Given the description of an element on the screen output the (x, y) to click on. 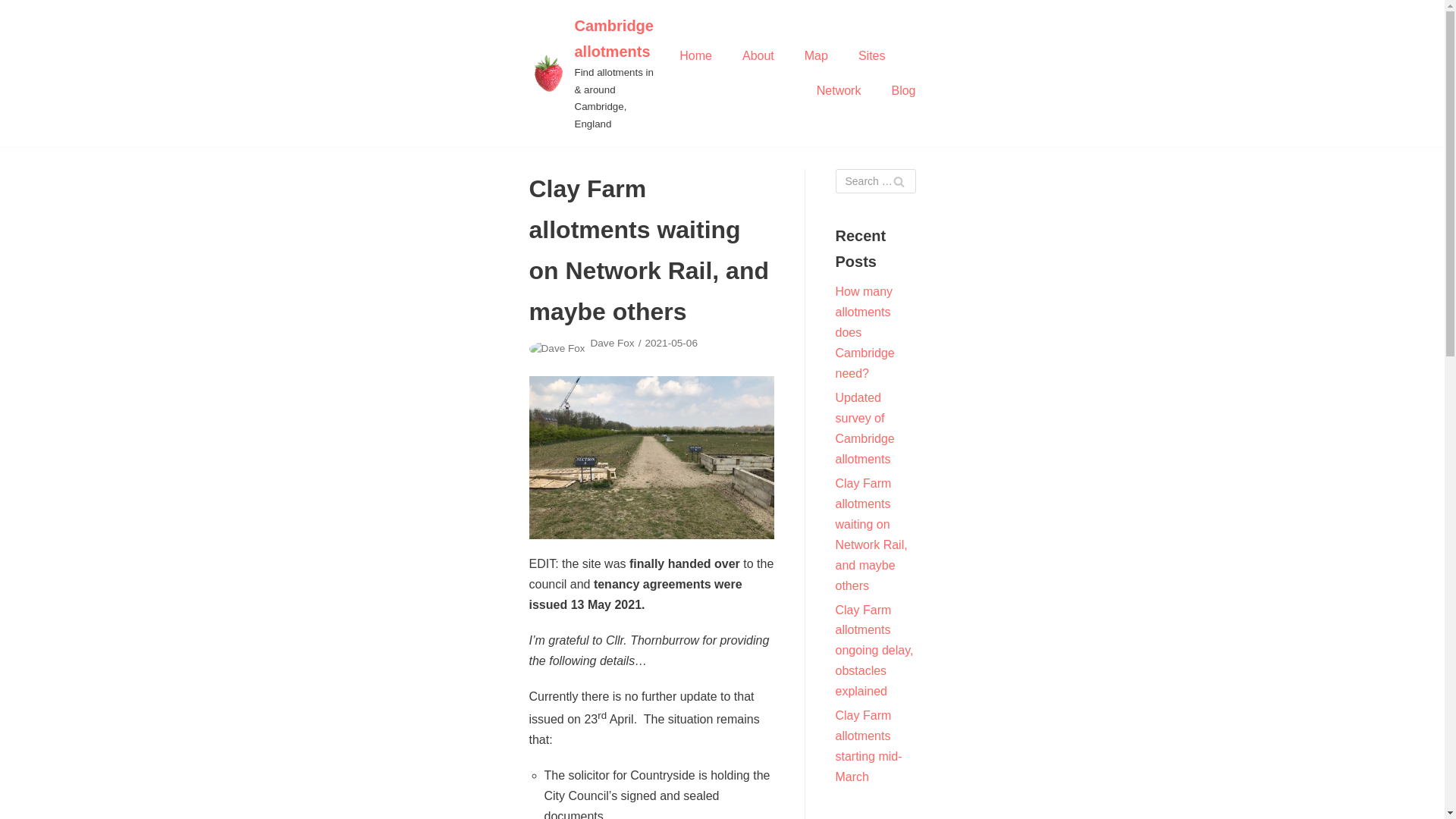
Map (816, 55)
Skip to content (15, 31)
Posts by Dave Fox (611, 342)
Dave Fox (611, 342)
Search (897, 180)
Home (695, 55)
Search (897, 180)
Clay Farm allotments starting mid-March (868, 745)
Network (838, 90)
About (758, 55)
